Given the description of an element on the screen output the (x, y) to click on. 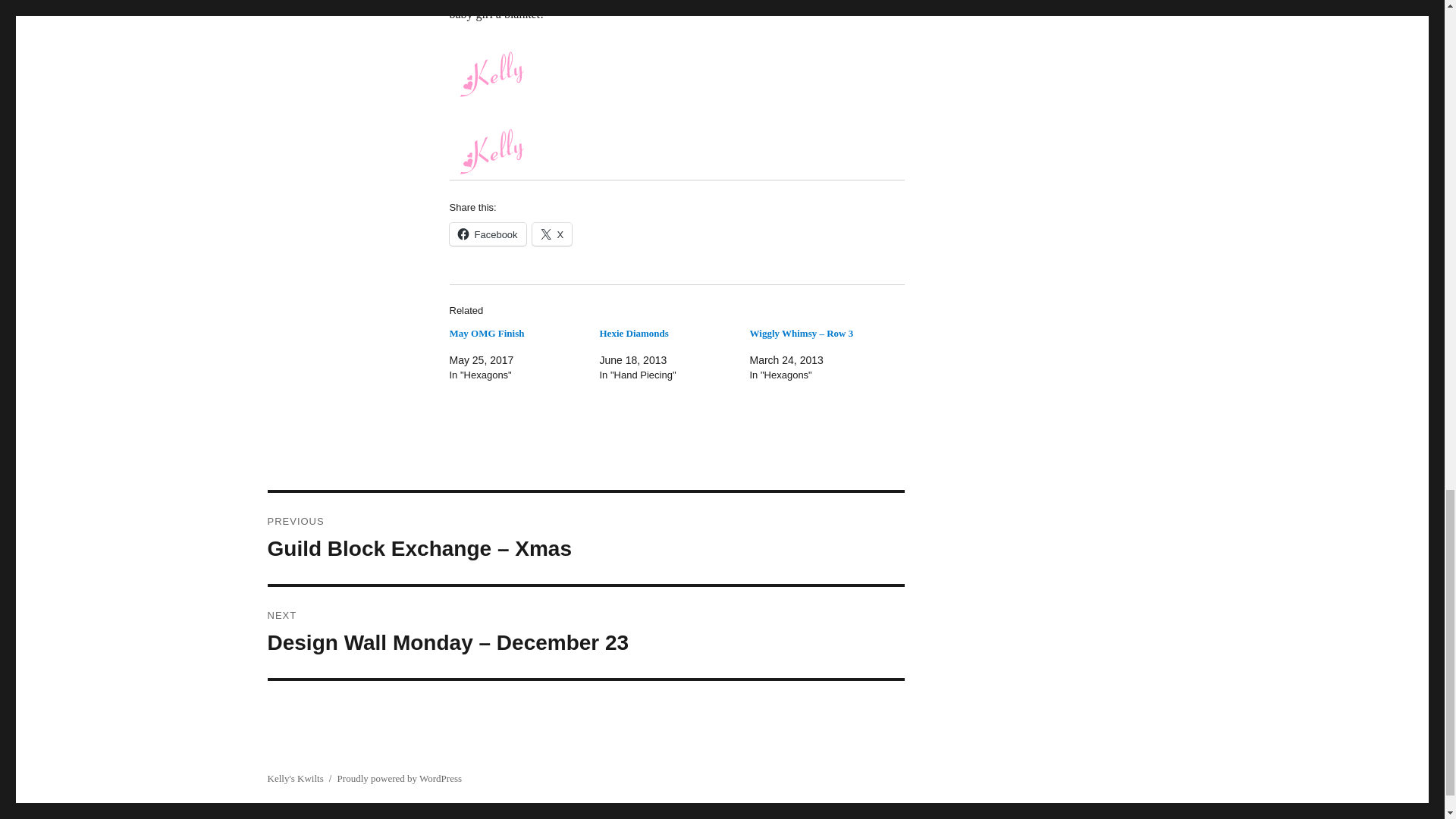
May OMG Finish (486, 333)
Hexie Diamonds (633, 333)
Facebook (486, 233)
Proudly powered by WordPress (399, 778)
Hexie Diamonds (633, 333)
X (552, 233)
Click to share on Facebook (486, 233)
Kelly's Kwilts (294, 778)
Click to share on X (552, 233)
May OMG Finish (486, 333)
